Given the description of an element on the screen output the (x, y) to click on. 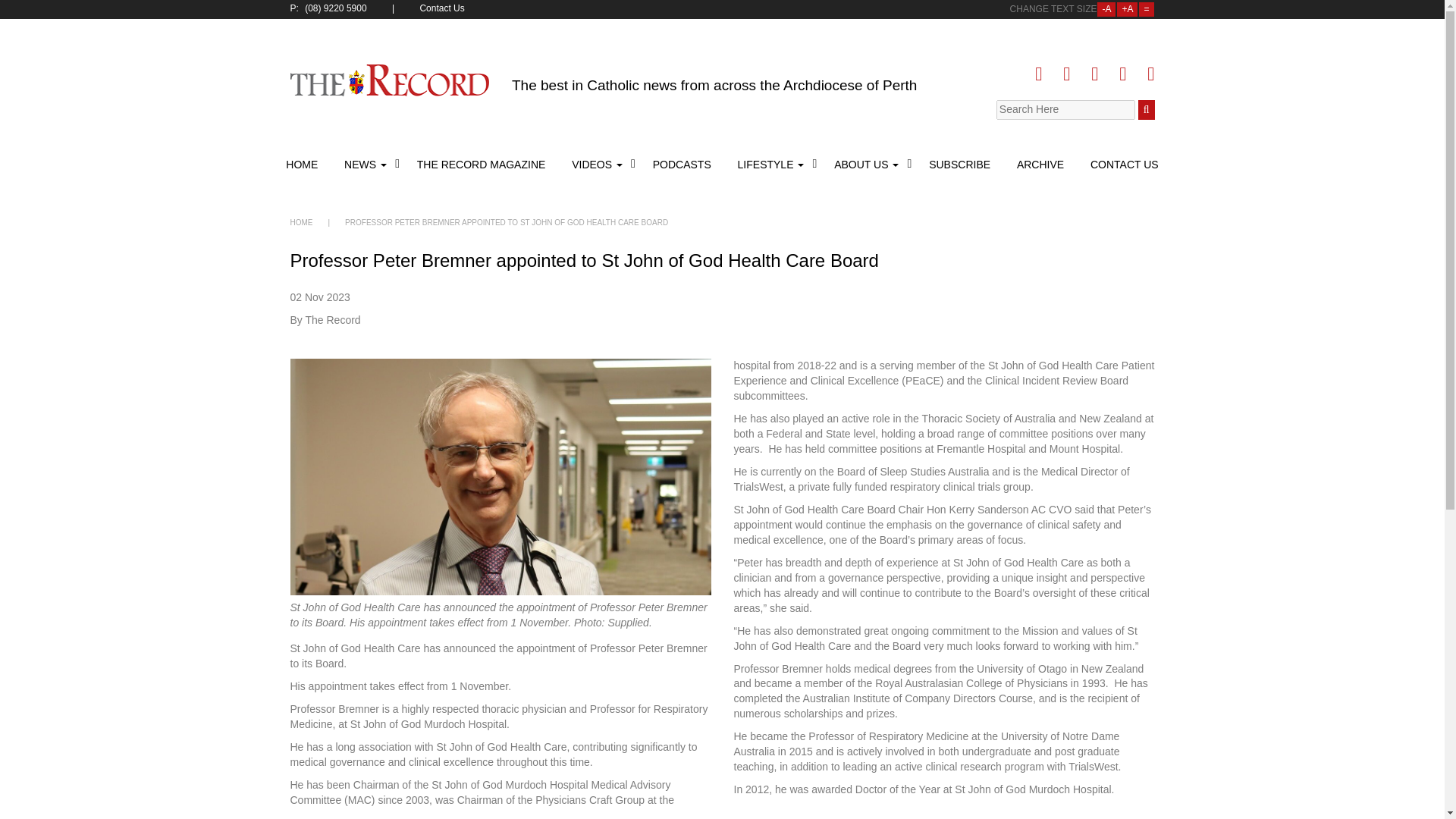
ARCHIVE (1040, 164)
Our Youtube page (1122, 74)
HOME (303, 164)
Our Twitter page (1066, 74)
Go to The Record. (301, 222)
CONTACT US (1122, 164)
HOME (301, 222)
VIDEOS (598, 164)
ABOUT US (867, 164)
NEWS (367, 164)
-A (1106, 9)
Contact Us (443, 8)
PODCASTS (681, 164)
SUBSCRIBE (959, 164)
Our Linked In page (1093, 74)
